Given the description of an element on the screen output the (x, y) to click on. 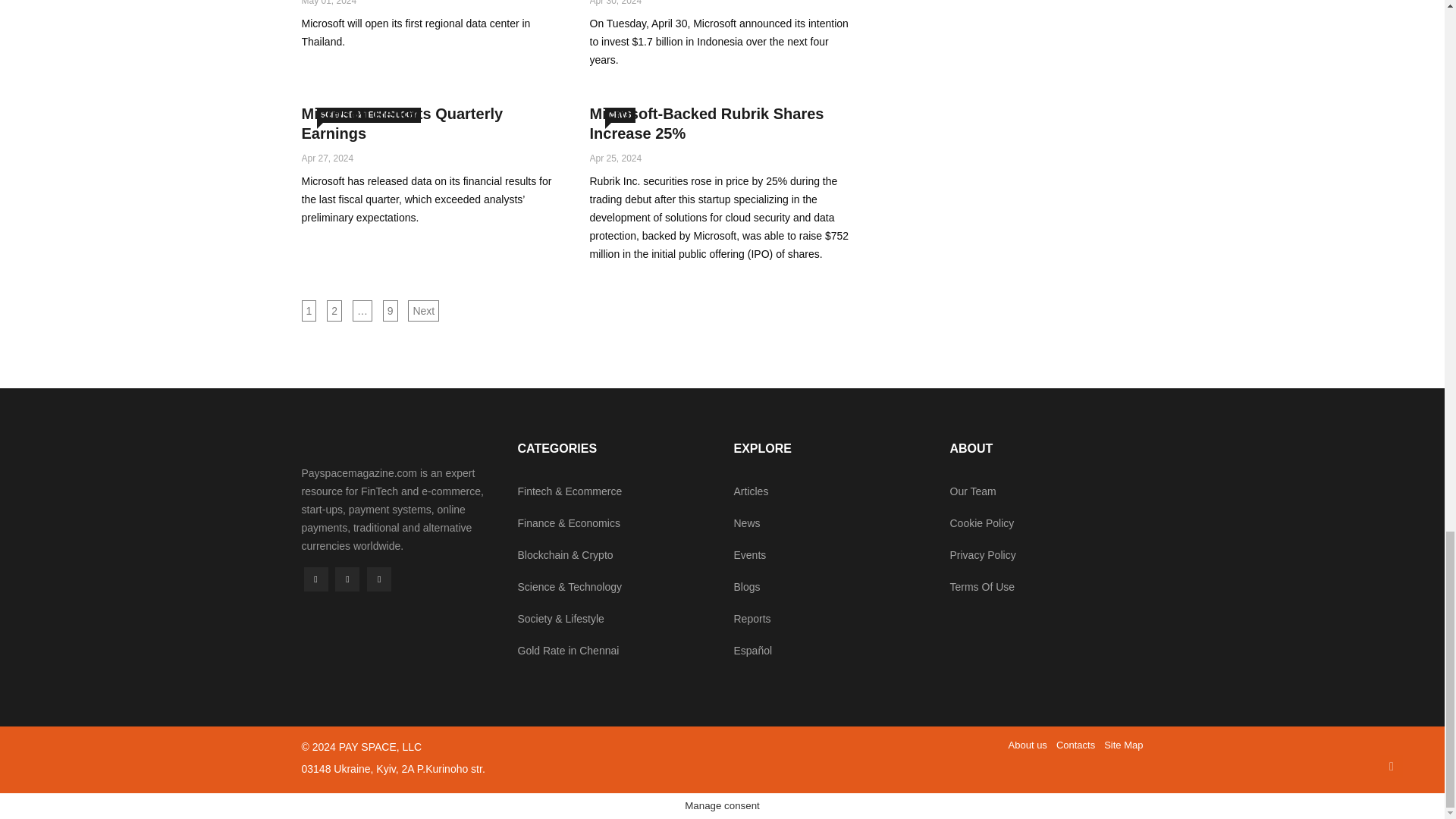
Twitter (346, 579)
RSS (378, 579)
Facebook (314, 579)
